Given the description of an element on the screen output the (x, y) to click on. 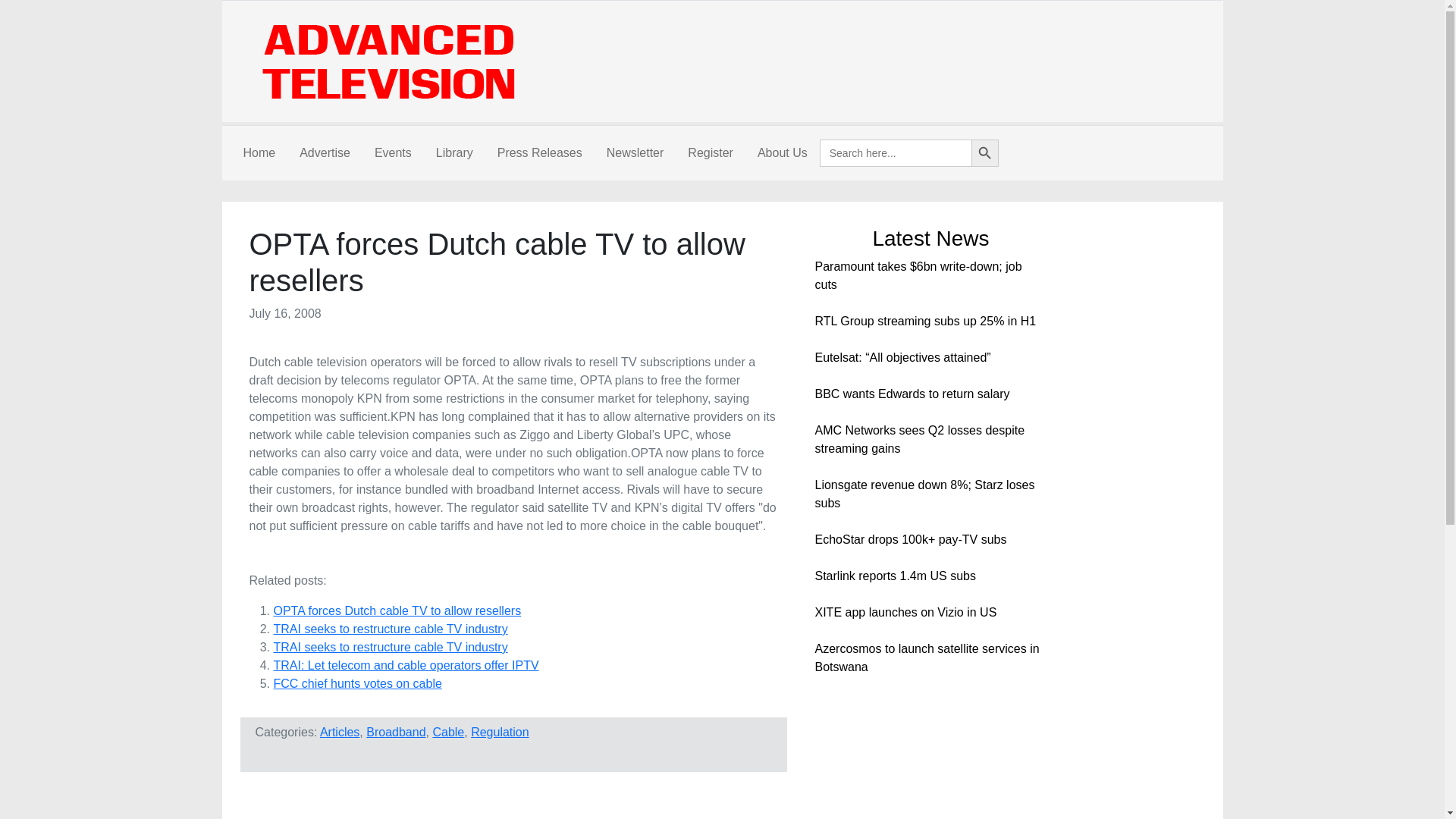
TRAI seeks to restructure cable TV industry (389, 646)
FCC chief hunts votes on cable (357, 683)
FCC chief hunts votes on cable (357, 683)
Regulation (499, 731)
Library (453, 153)
Cable (448, 731)
Press Releases (539, 153)
Home (258, 153)
TRAI seeks to restructure cable TV industry (389, 628)
TRAI seeks to restructure cable TV industry (389, 628)
